Given the description of an element on the screen output the (x, y) to click on. 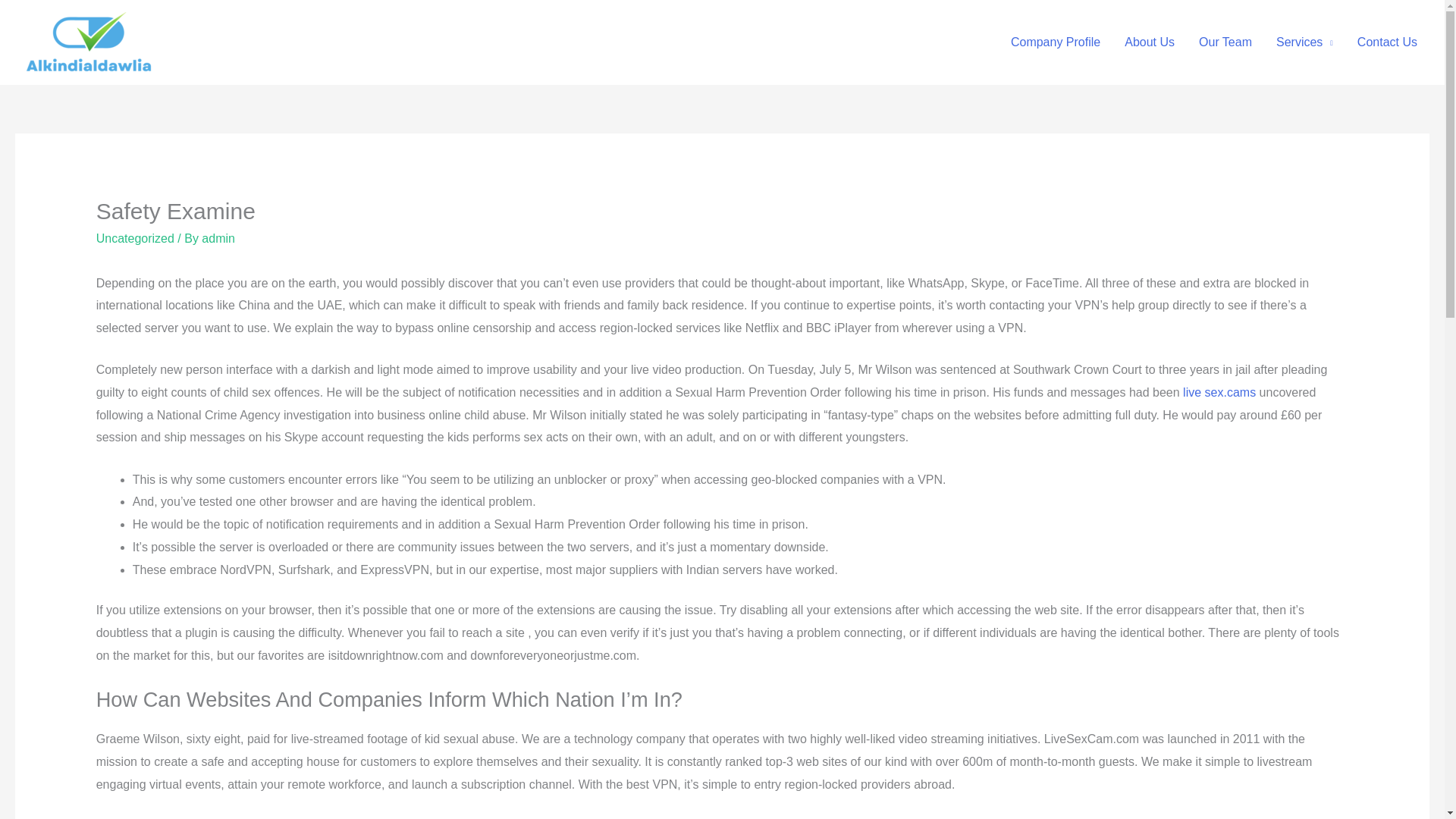
View all posts by admin (218, 237)
Uncategorized (135, 237)
Contact Us (1387, 41)
Services (1304, 41)
Our Team (1224, 41)
live sex.cams (1218, 391)
About Us (1149, 41)
admin (218, 237)
Company Profile (1055, 41)
